Given the description of an element on the screen output the (x, y) to click on. 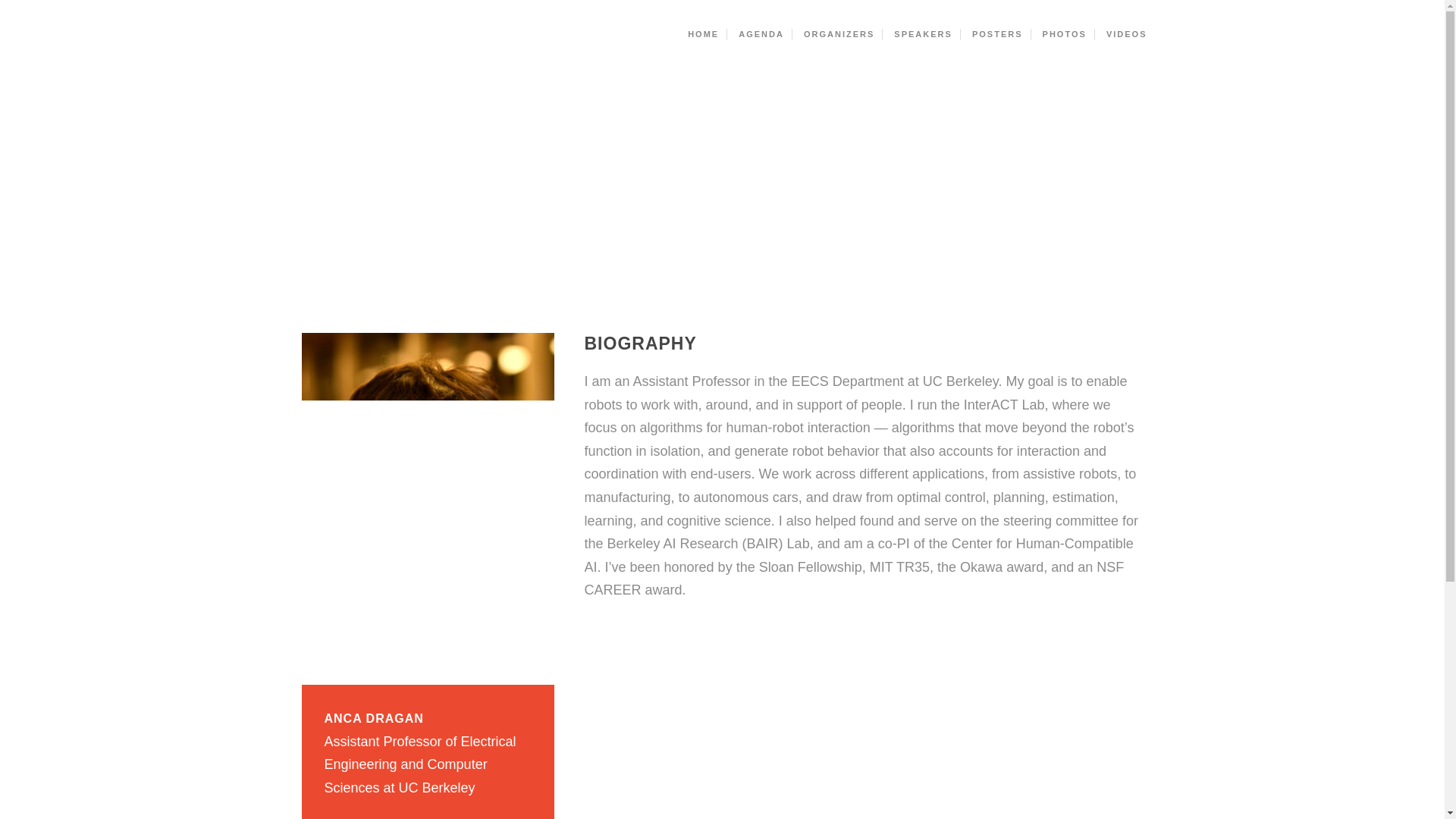
PHOTOS (1064, 34)
ORGANIZERS (839, 34)
SPEAKERS (923, 34)
HOME (702, 34)
AGENDA (761, 34)
POSTERS (996, 34)
VIDEOS (1126, 34)
